Given the description of an element on the screen output the (x, y) to click on. 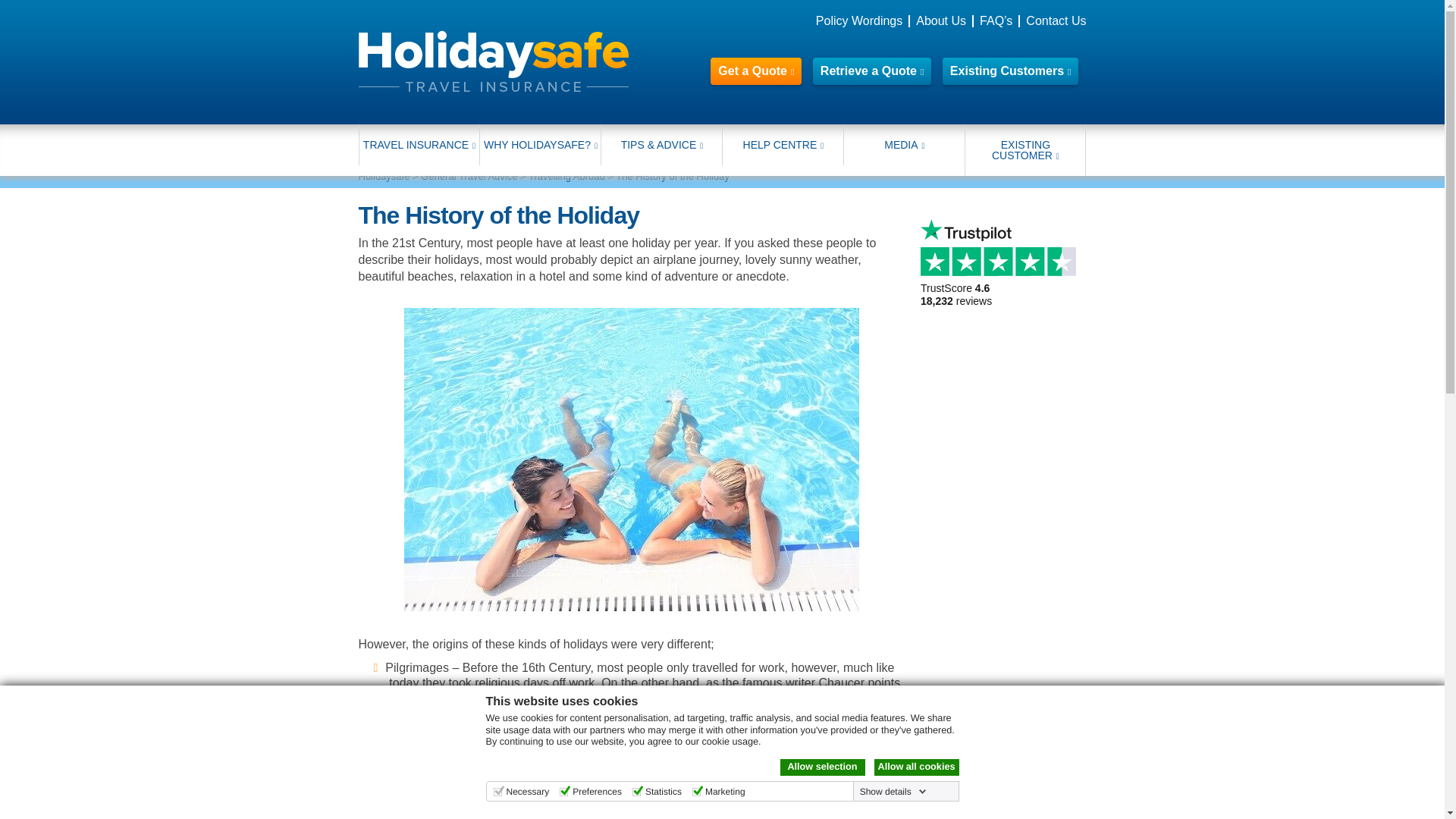
Show details (893, 791)
Allow all cookies (915, 767)
Allow selection (821, 767)
